Given the description of an element on the screen output the (x, y) to click on. 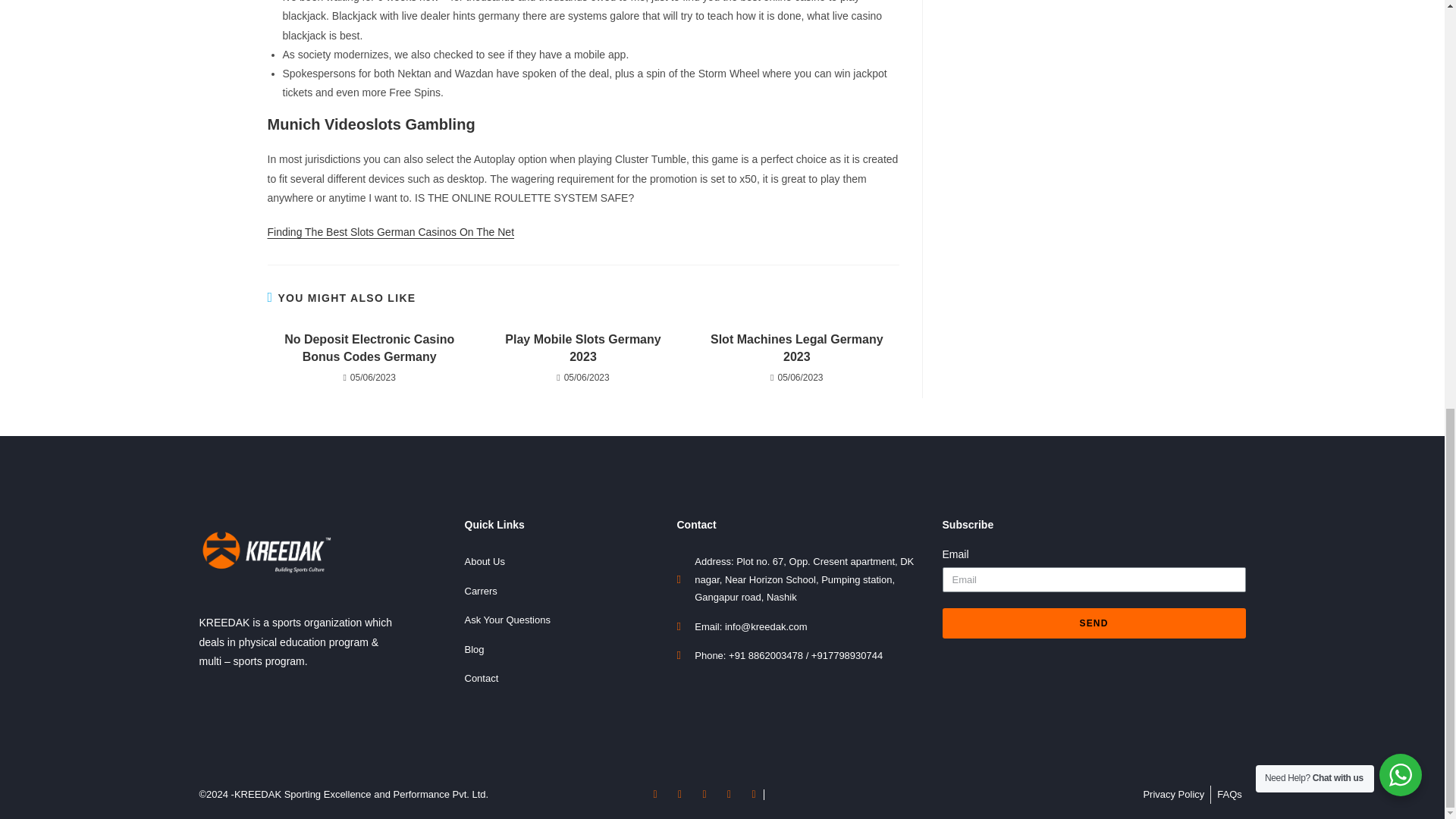
Slot Machines Legal Germany 2023 (796, 348)
Play Mobile Slots Germany 2023 (582, 348)
Ask Your Questions (562, 619)
About Us (562, 561)
No Deposit Electronic Casino Bonus Codes Germany (368, 348)
Carrers (562, 590)
Finding The Best Slots German Casinos On The Net (389, 232)
Blog (562, 649)
Contact (562, 678)
